Given the description of an element on the screen output the (x, y) to click on. 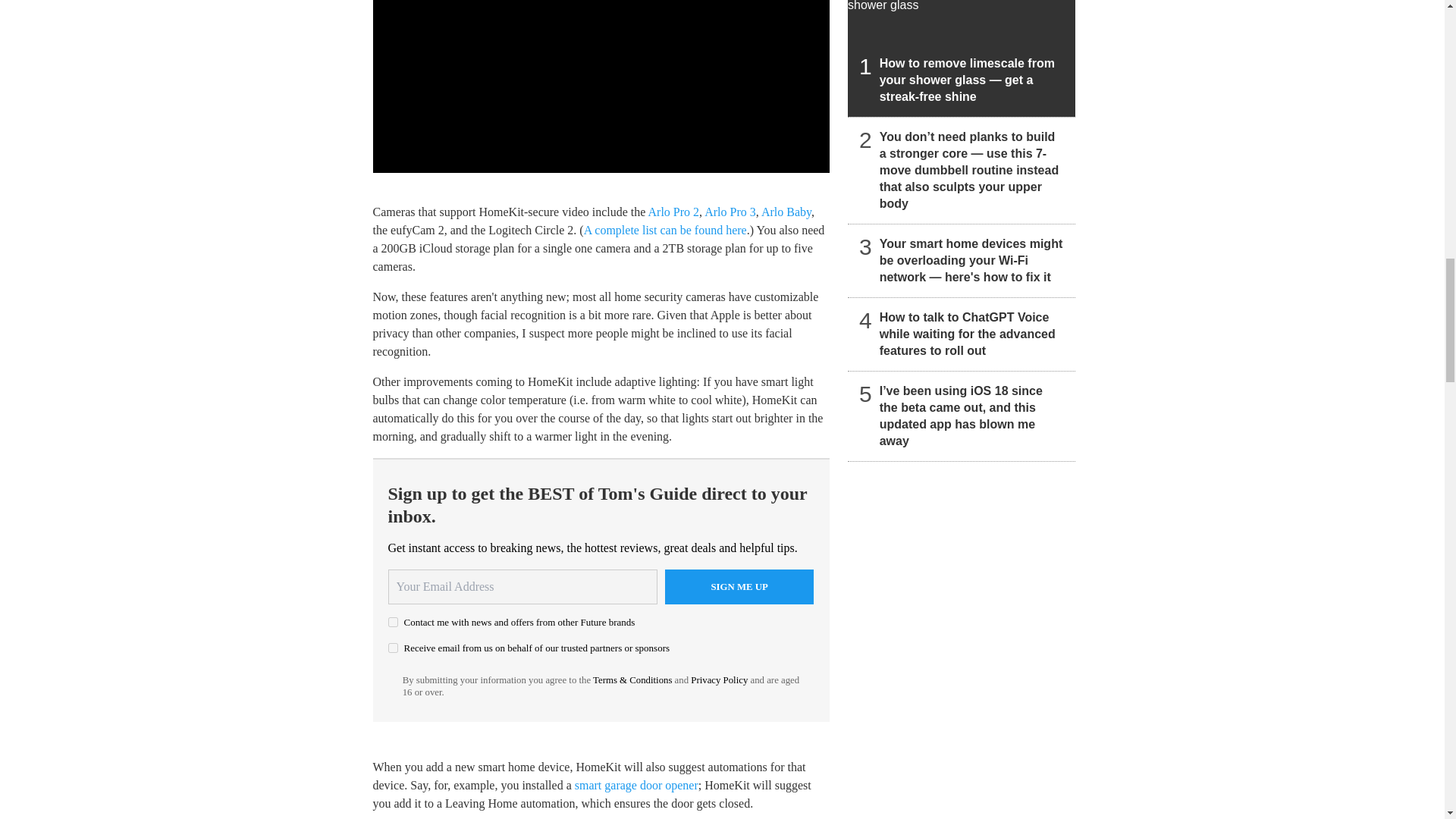
Sign me up (739, 586)
on (392, 647)
on (392, 622)
